Given the description of an element on the screen output the (x, y) to click on. 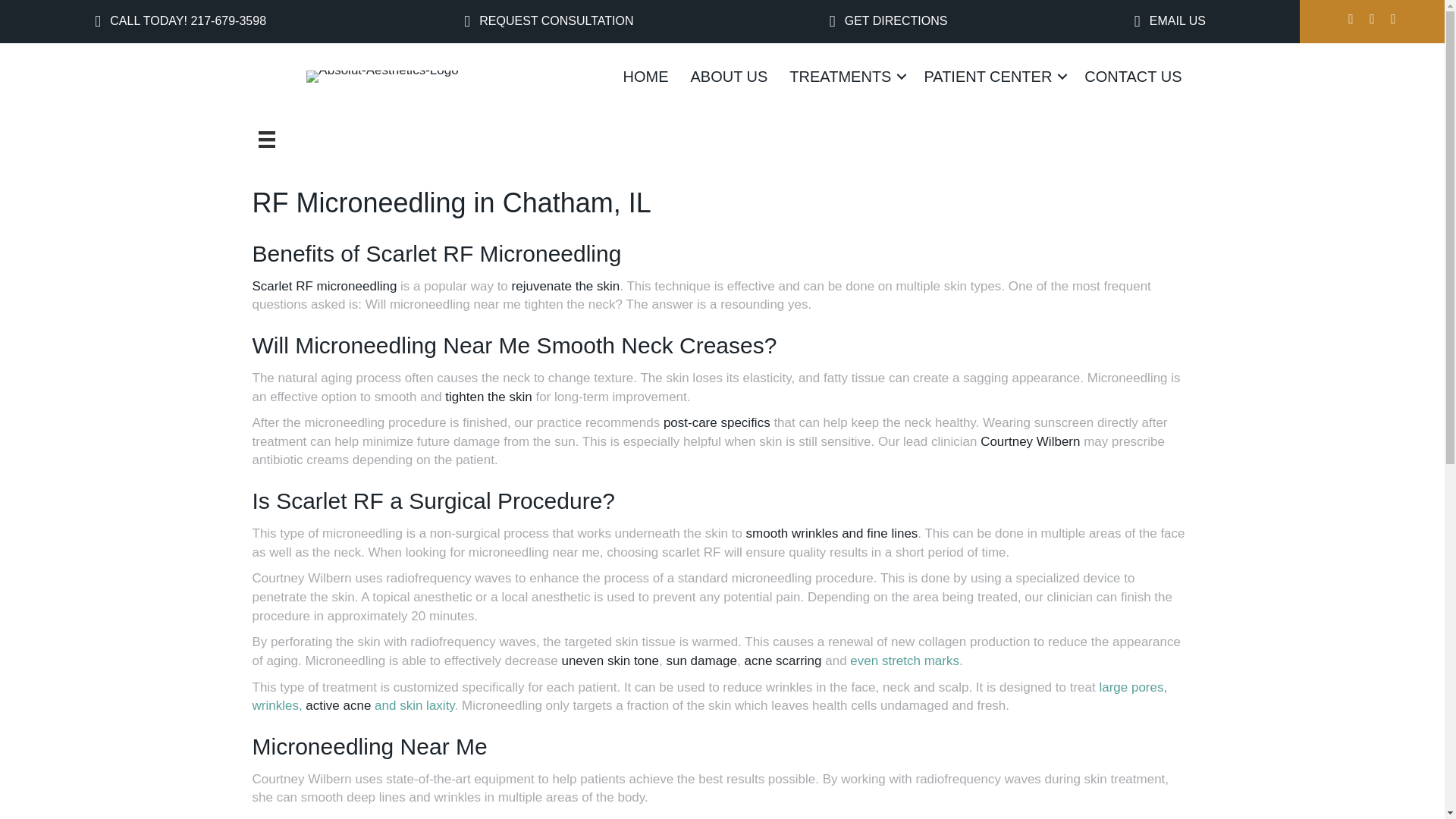
PATIENT CENTER (992, 76)
CALL TODAY! 217-679-3598 (180, 21)
TREATMENTS (845, 76)
REQUEST CONSULTATION (548, 21)
EMAIL US (1169, 21)
Absolut-Aesthetics-Logo (381, 76)
CONTACT US (1133, 76)
GET DIRECTIONS (888, 21)
ABOUT US (728, 76)
HOME (644, 76)
